Given the description of an element on the screen output the (x, y) to click on. 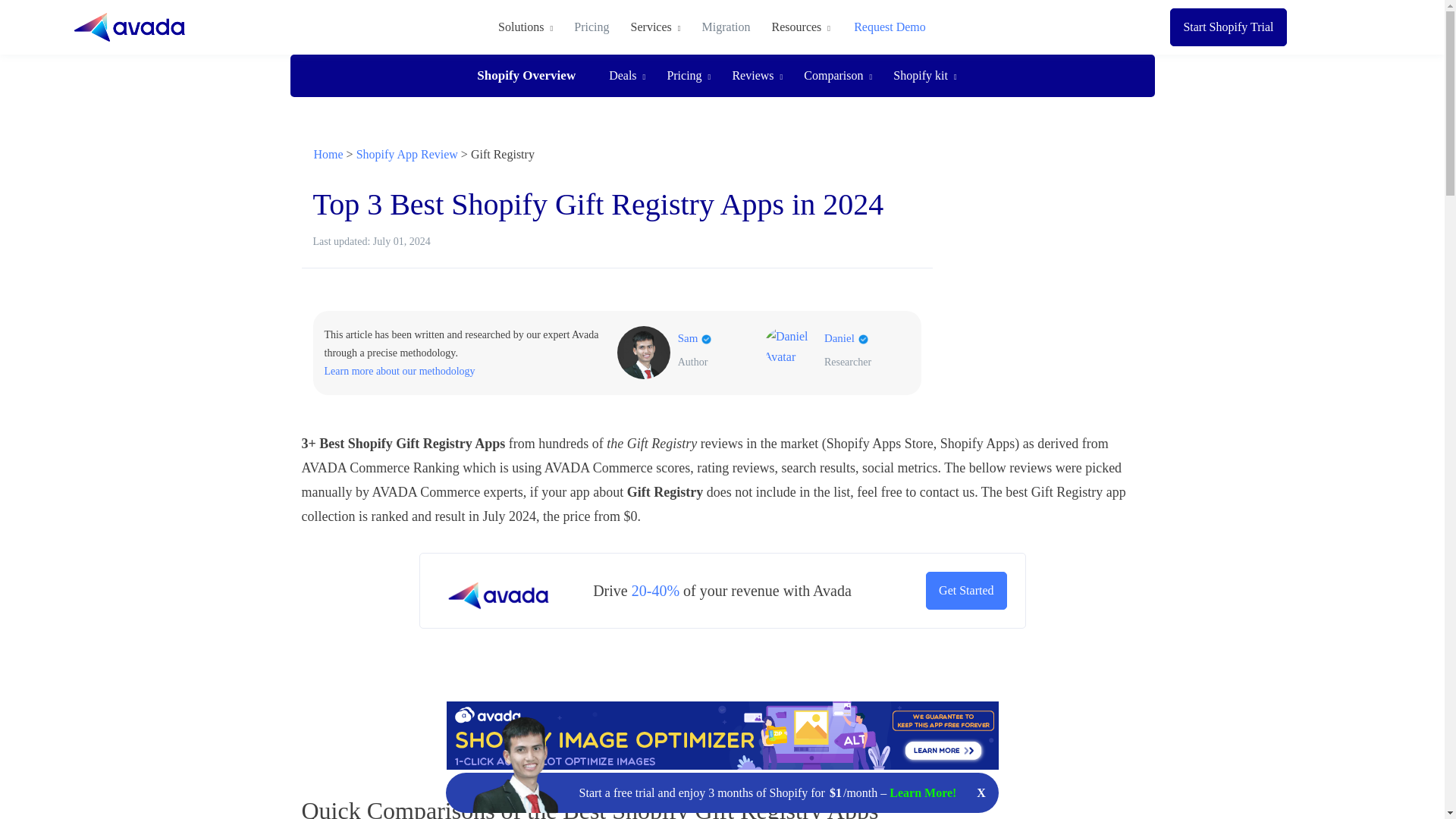
Migration (726, 27)
Request Demo (890, 26)
Start Shopify Trial (1227, 26)
Solutions (530, 27)
Pricing (688, 75)
Deals (627, 75)
Pricing (591, 27)
Services (655, 27)
Resources (801, 27)
avada email markting (966, 590)
